Given the description of an element on the screen output the (x, y) to click on. 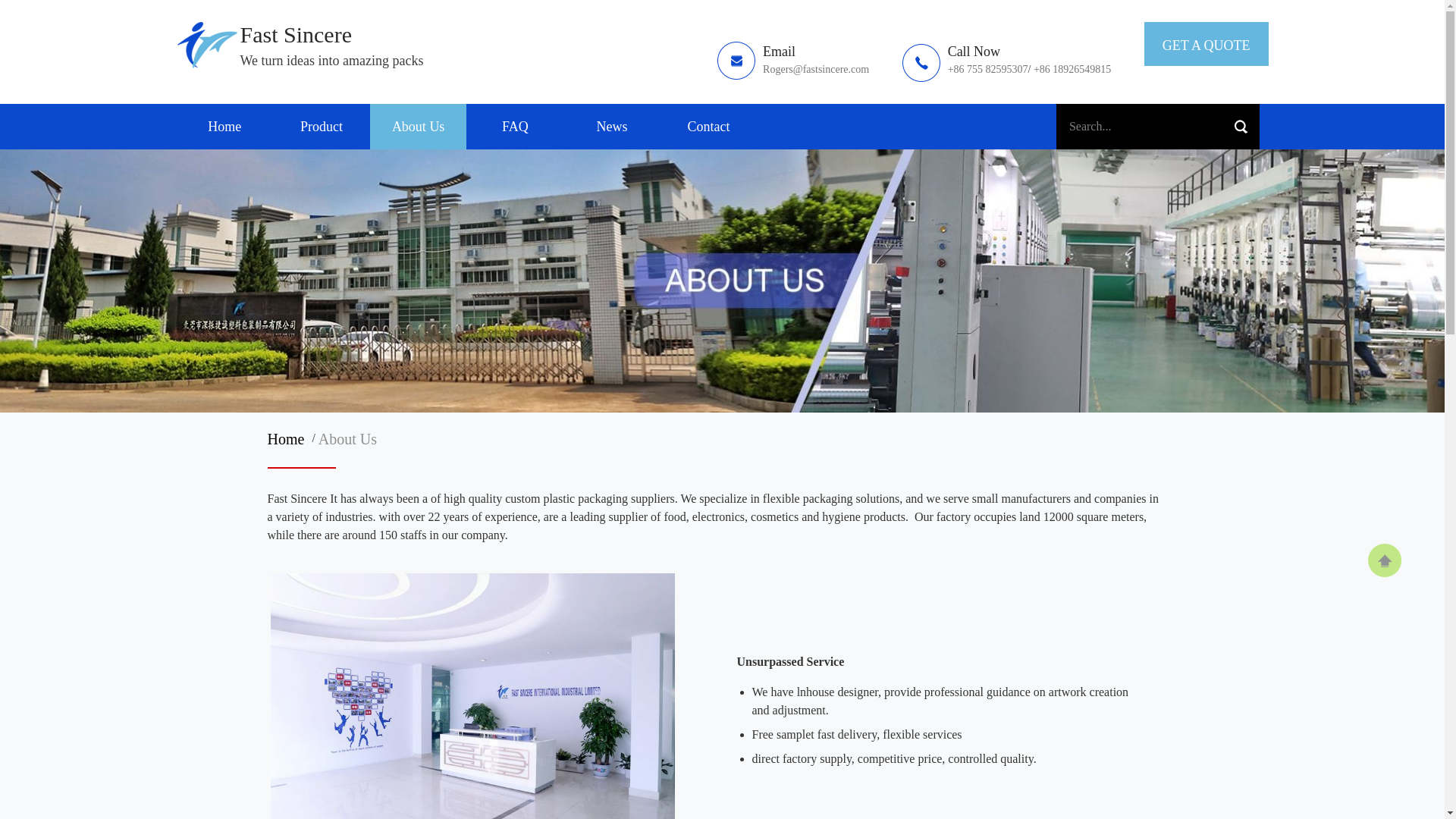
FAQ (514, 126)
News (612, 126)
Home   (288, 438)
get a quote (1205, 45)
GET A QUOTE (1205, 45)
email (793, 60)
Home (224, 126)
Contact (709, 126)
Product (321, 126)
tel (1007, 60)
About Us (418, 126)
About Us (347, 438)
